Given the description of an element on the screen output the (x, y) to click on. 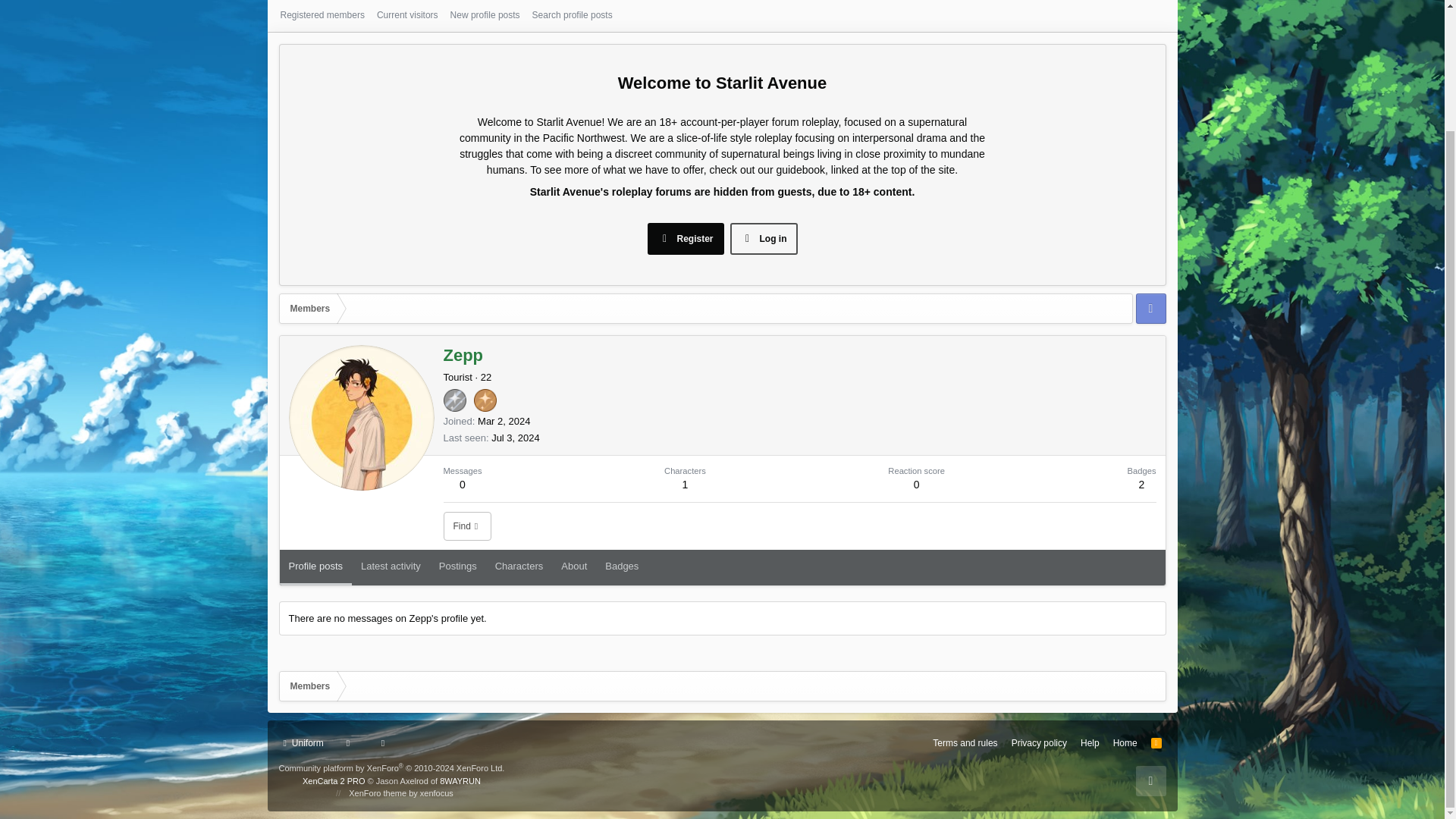
Jul 3, 2024 at 4:16 AM (516, 437)
Mar 2, 2024 at 12:28 PM (512, 16)
